Given the description of an element on the screen output the (x, y) to click on. 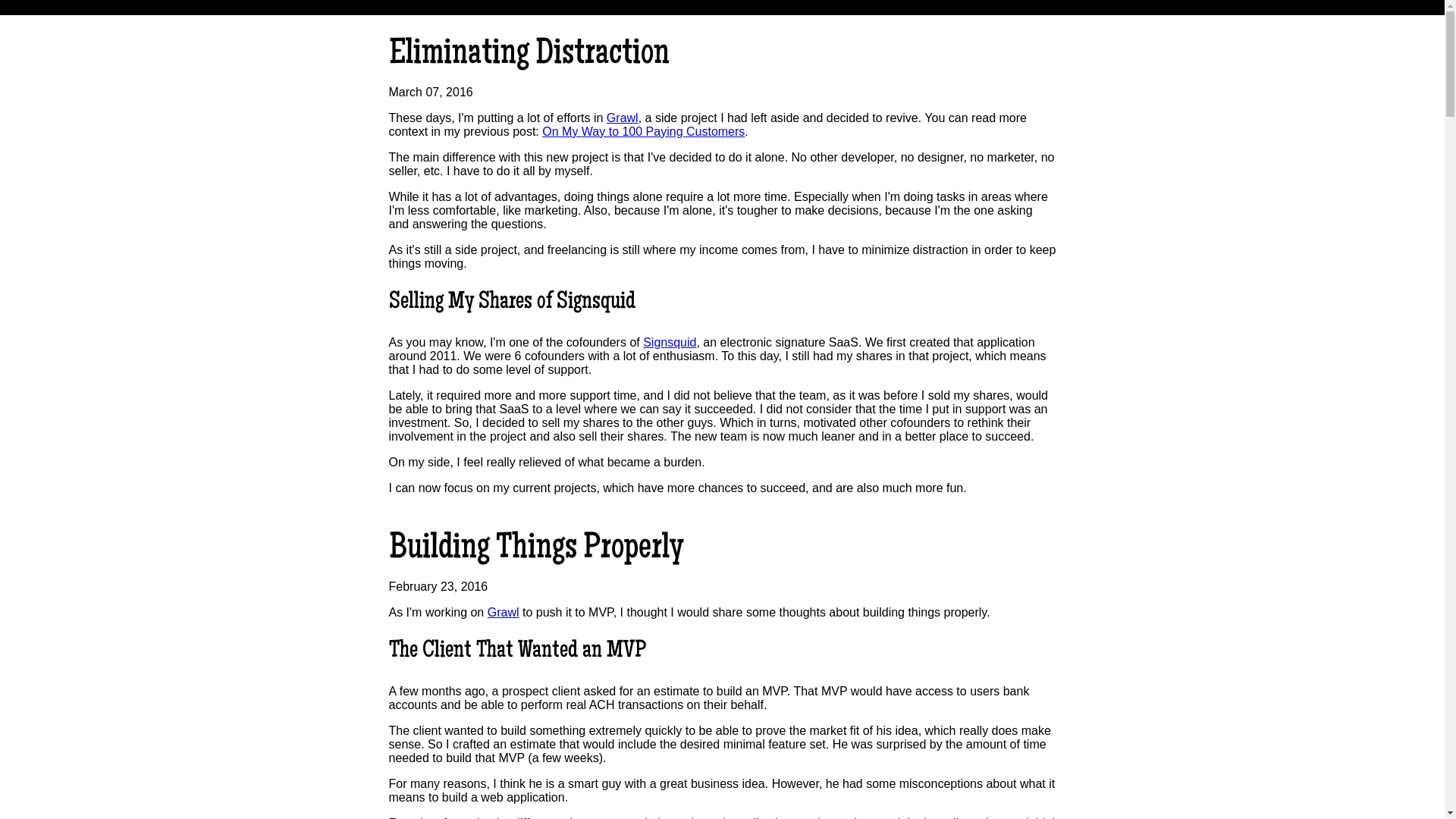
Grawl Element type: text (622, 117)
Eliminating Distraction Element type: text (528, 55)
Signsquid Element type: text (669, 341)
Grawl Element type: text (503, 611)
Building Things Properly Element type: text (535, 549)
On My Way to 100 Paying Customers Element type: text (643, 131)
